Given the description of an element on the screen output the (x, y) to click on. 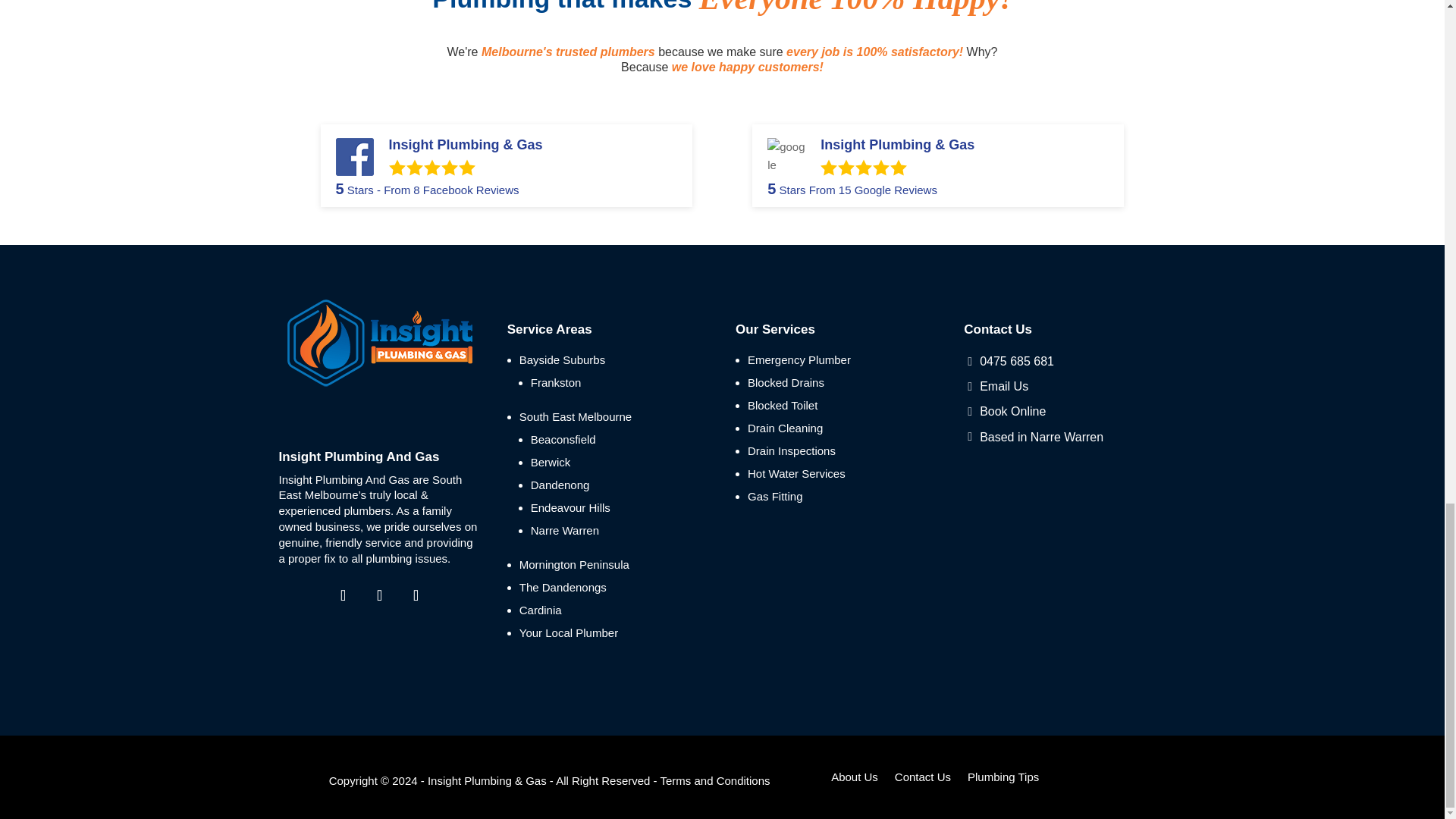
Follow on Facebook (343, 594)
Follow on Google (379, 594)
Insight-Plumbing-And-Gas-Logo-sq (379, 342)
Follow on Instagram (415, 594)
